Given the description of an element on the screen output the (x, y) to click on. 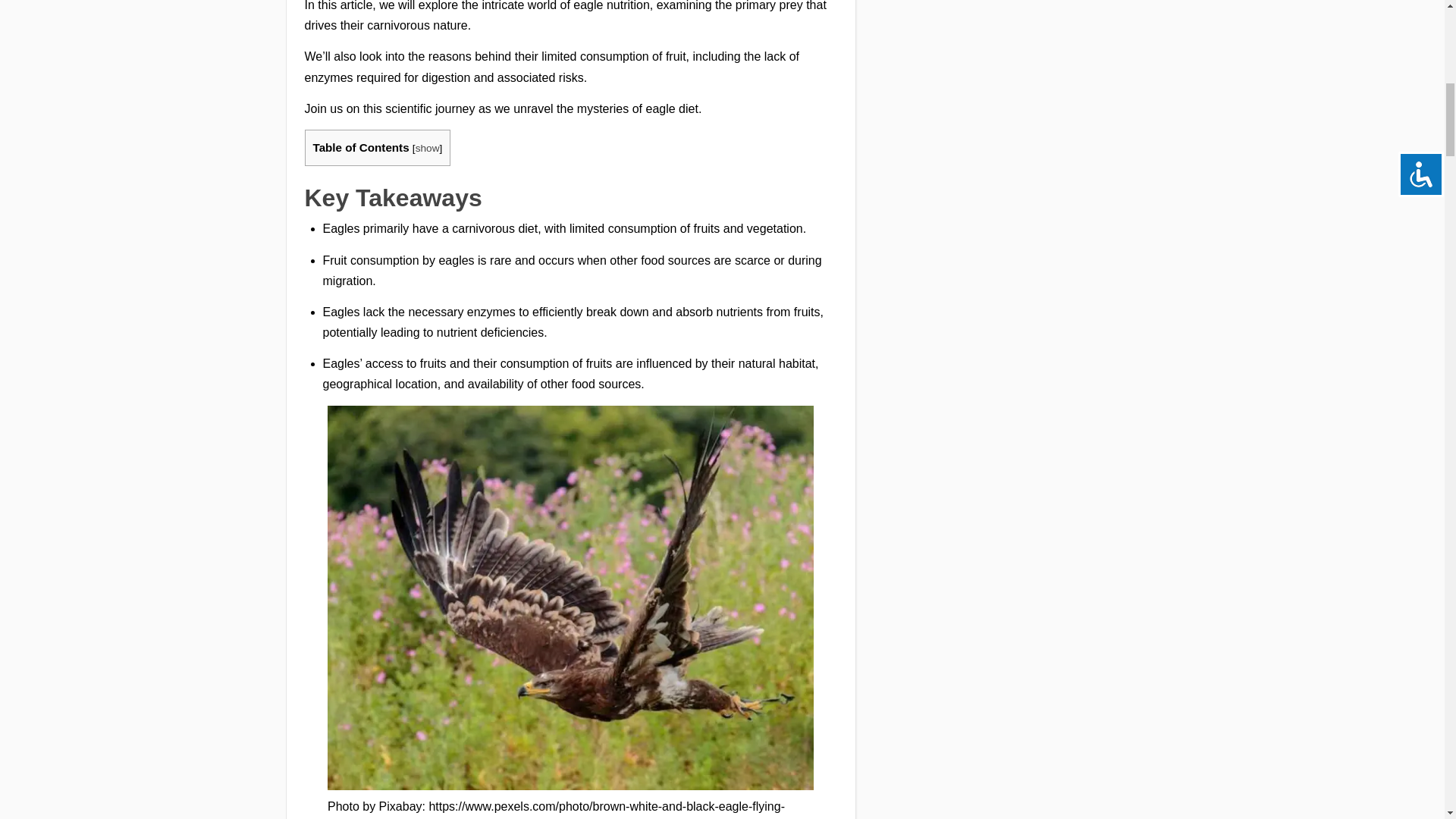
show (426, 147)
